Given the description of an element on the screen output the (x, y) to click on. 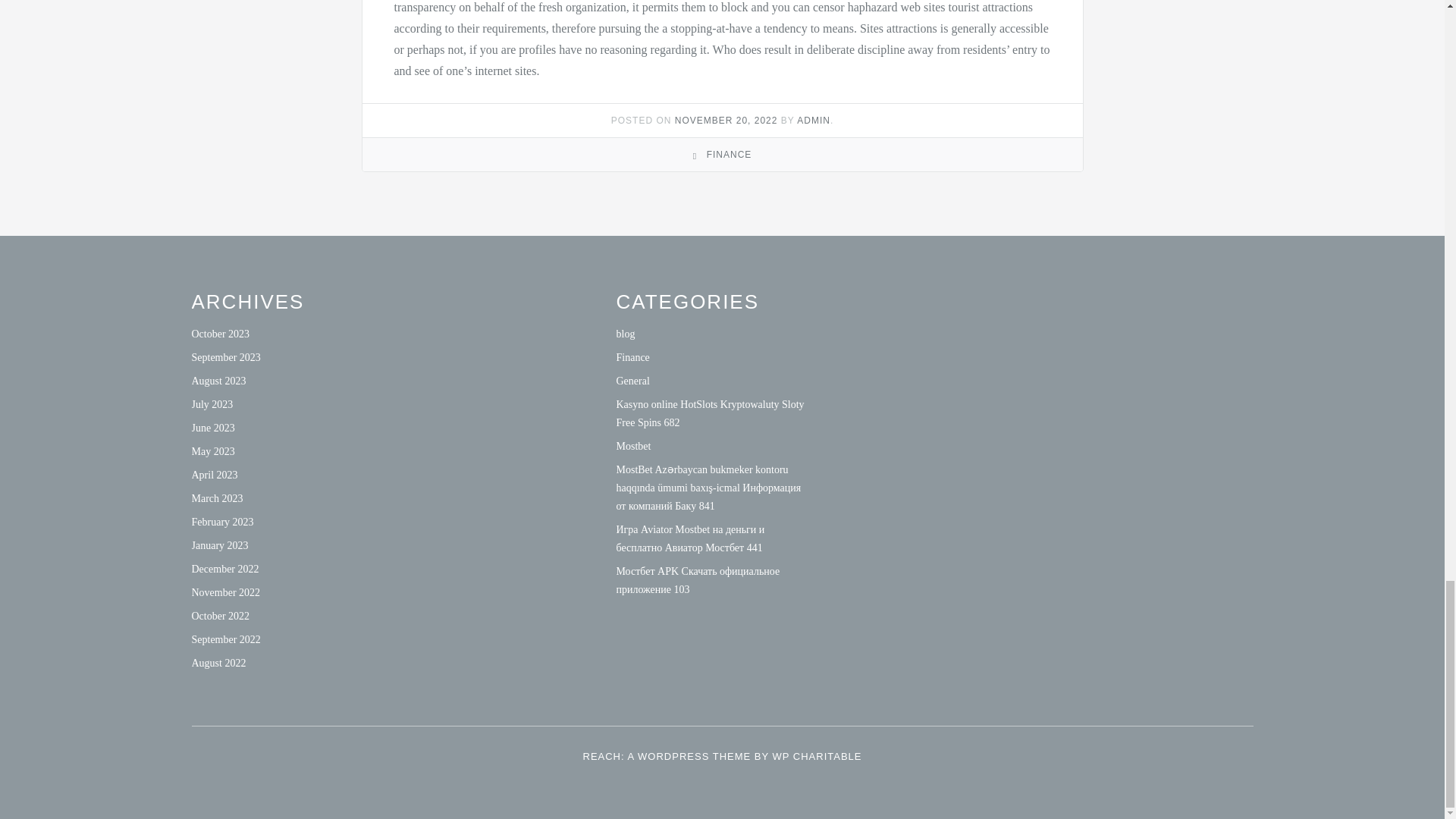
Mostbet (632, 446)
June 2023 (212, 428)
October 2023 (219, 333)
NOVEMBER 20, 2022 (726, 120)
January 2023 (218, 545)
April 2023 (213, 474)
May 2023 (212, 451)
Finance (632, 357)
FINANCE (729, 154)
ADMIN (812, 120)
